Given the description of an element on the screen output the (x, y) to click on. 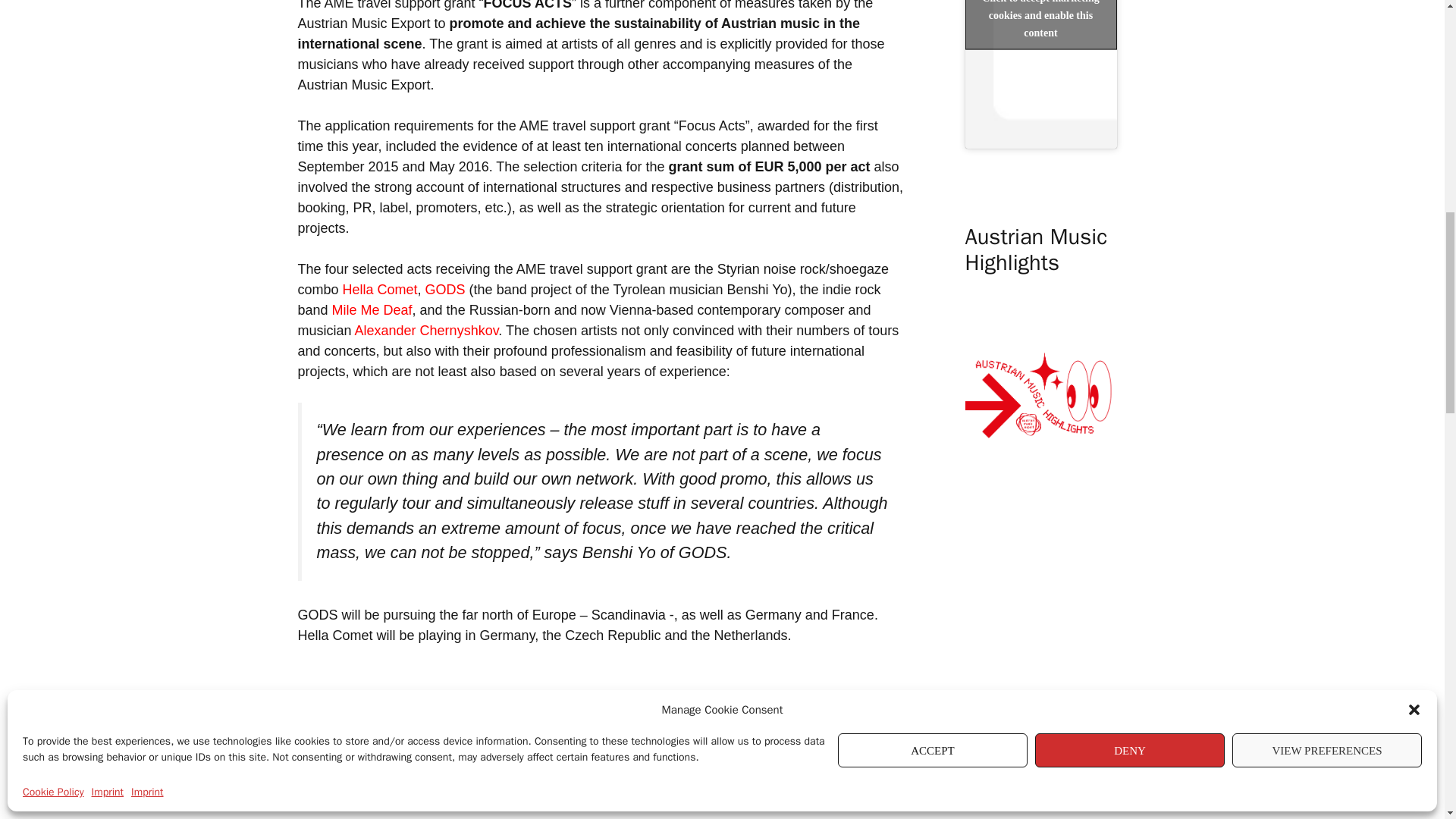
Hella Comet (379, 289)
Scroll back to top (1406, 720)
Mile Me Deaf (371, 309)
